Given the description of an element on the screen output the (x, y) to click on. 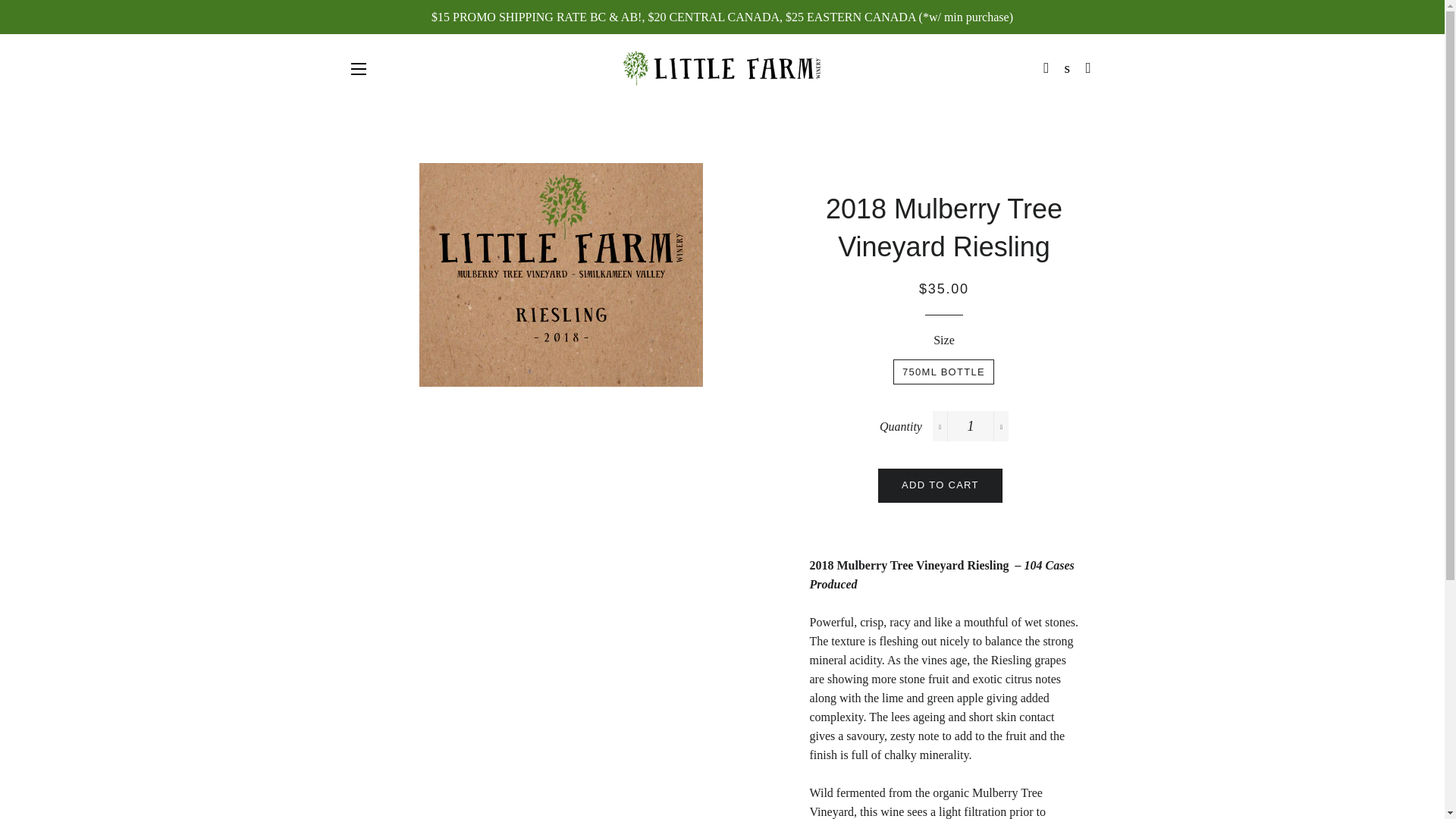
1 (971, 426)
SITE NAVIGATION (358, 68)
